Given the description of an element on the screen output the (x, y) to click on. 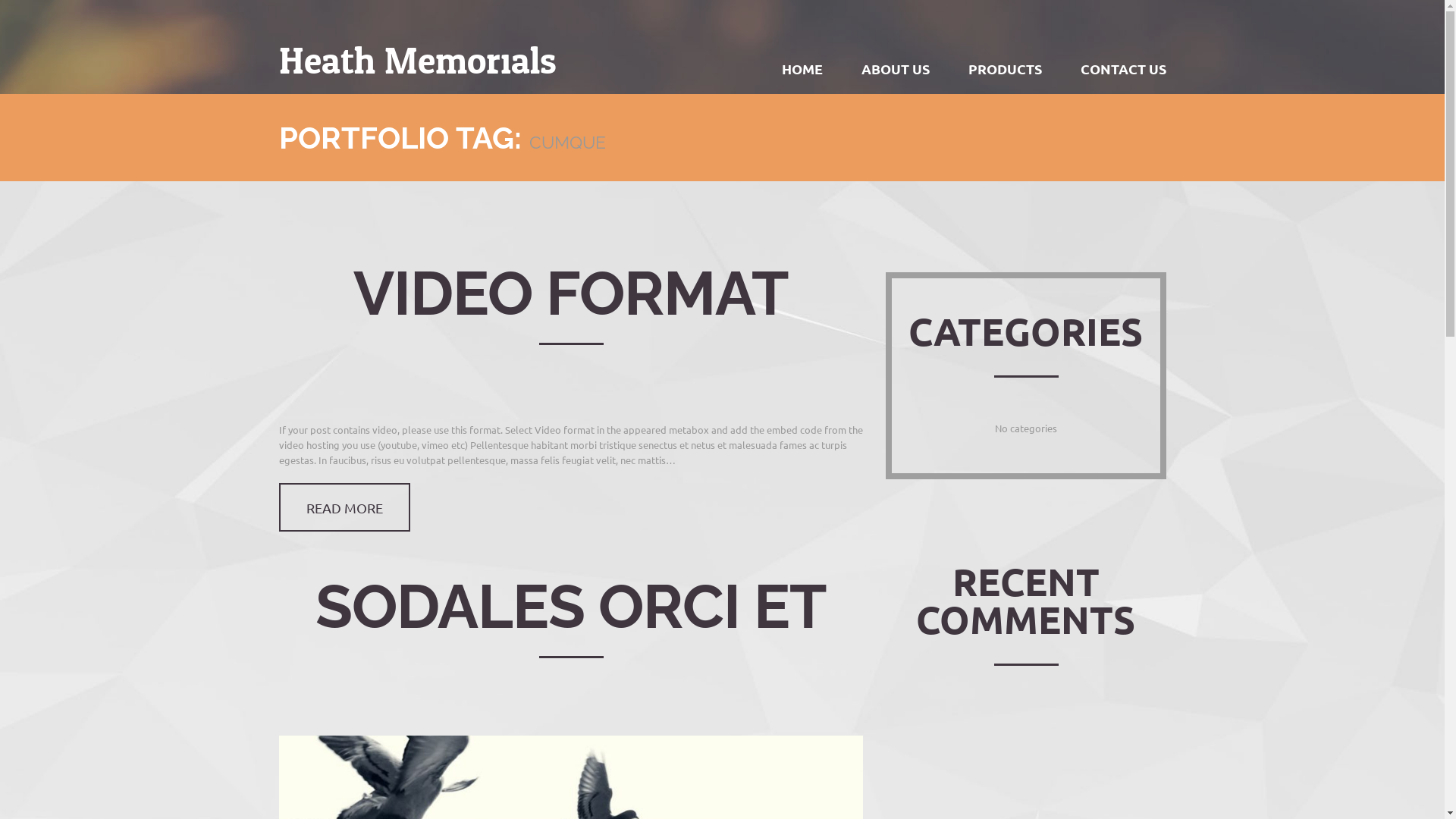
Heath Memorials Element type: text (417, 61)
ABOUT US Element type: text (894, 68)
READ MORE Element type: text (344, 506)
VIDEO FORMAT Element type: text (570, 293)
PRODUCTS Element type: text (1005, 68)
SODALES ORCI ET Element type: text (570, 605)
HOME Element type: text (802, 68)
CONTACT US Element type: text (1123, 68)
